Given the description of an element on the screen output the (x, y) to click on. 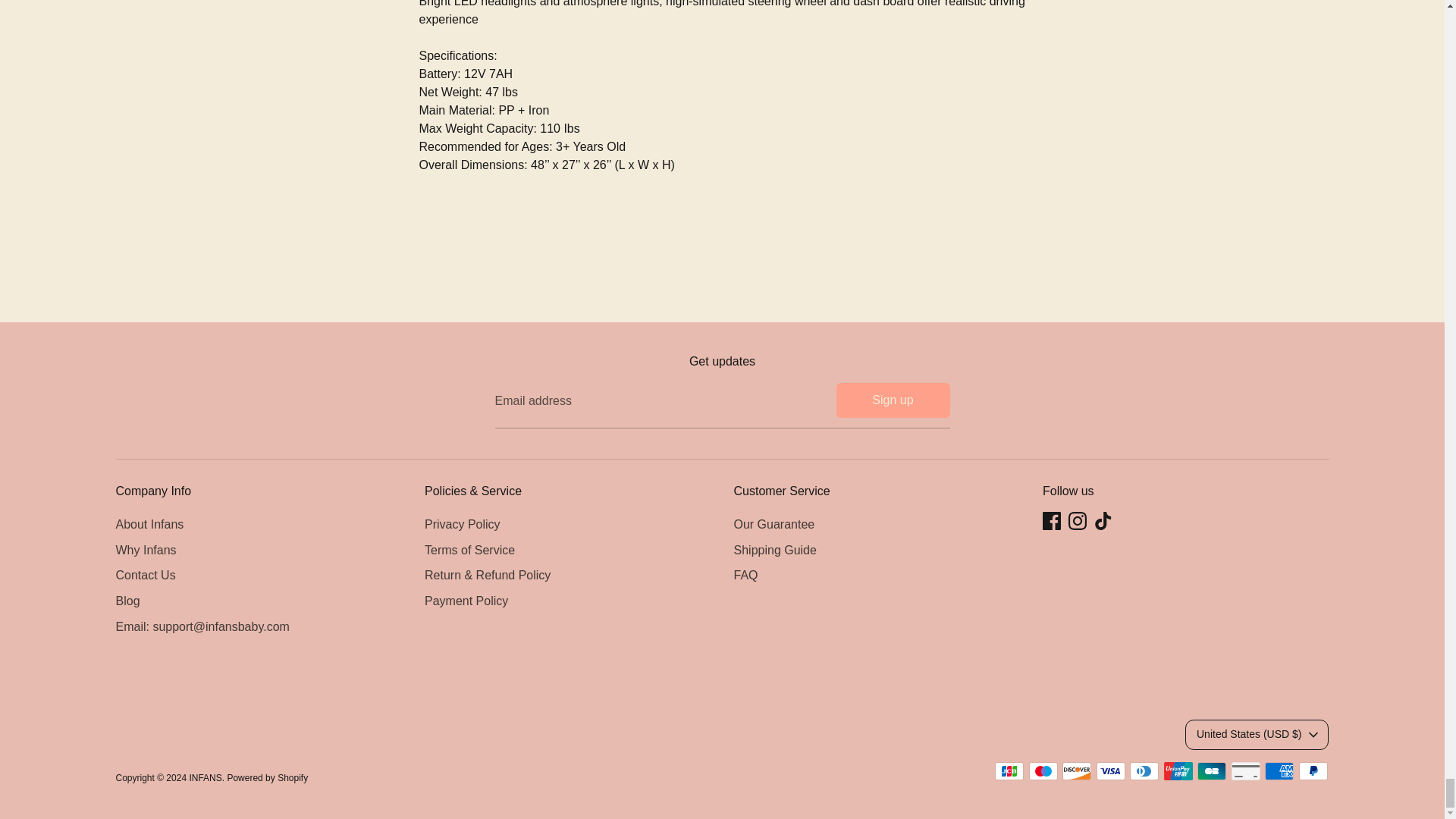
Maestro (1043, 771)
Visa (1110, 771)
Diners Club (1143, 771)
JCB (1008, 771)
Discover (1076, 771)
